Given the description of an element on the screen output the (x, y) to click on. 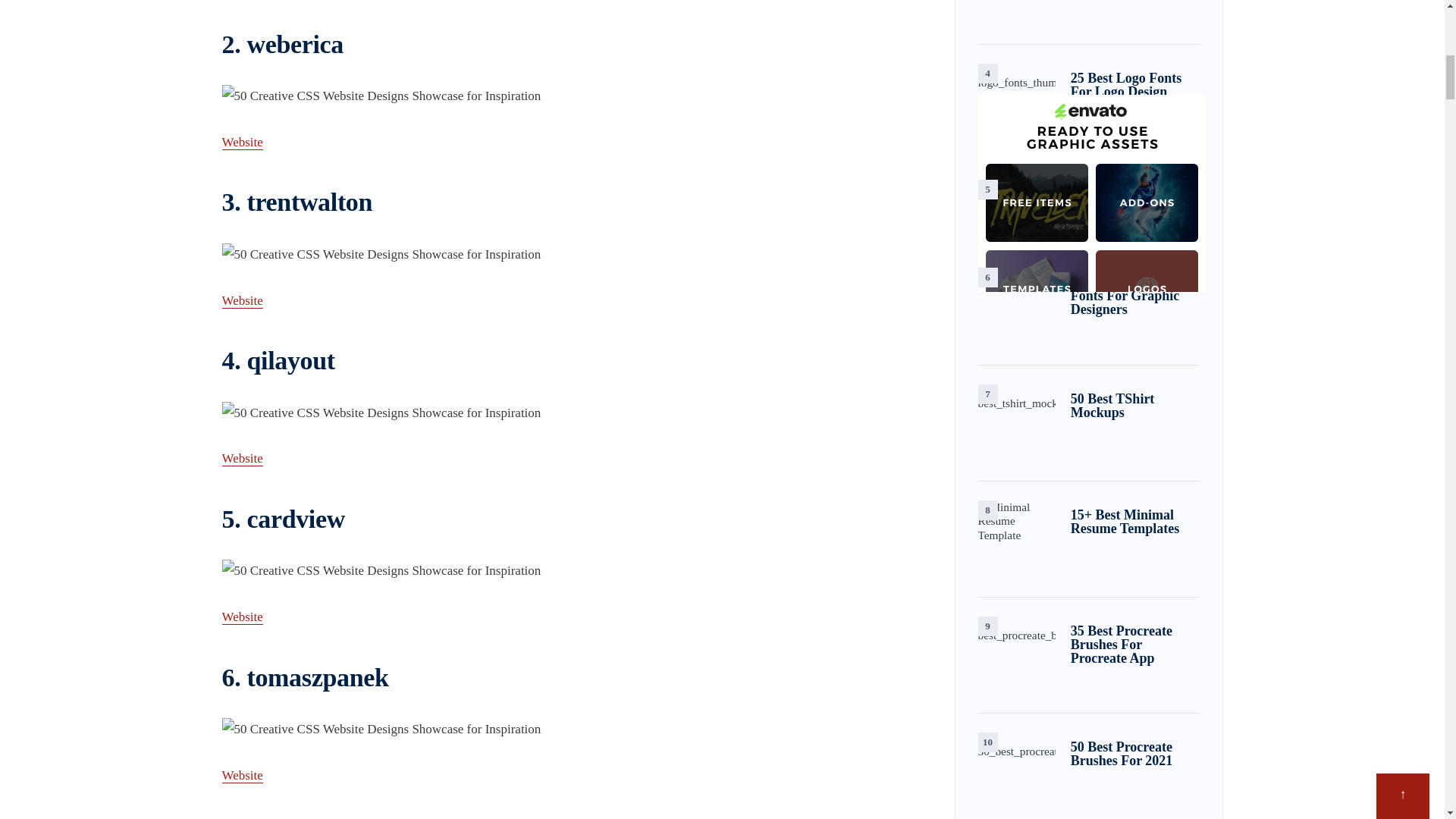
50 Creative CSS Website Designs Showcase for Inspiration (564, 254)
50 Creative CSS Website Designs Showcase for Inspiration (564, 571)
50 Creative CSS Website Designs Showcase for Inspiration (564, 730)
50 Creative CSS Website Designs Showcase for Inspiration (564, 413)
50 Creative CSS Website Designs Showcase for Inspiration (564, 96)
